Given the description of an element on the screen output the (x, y) to click on. 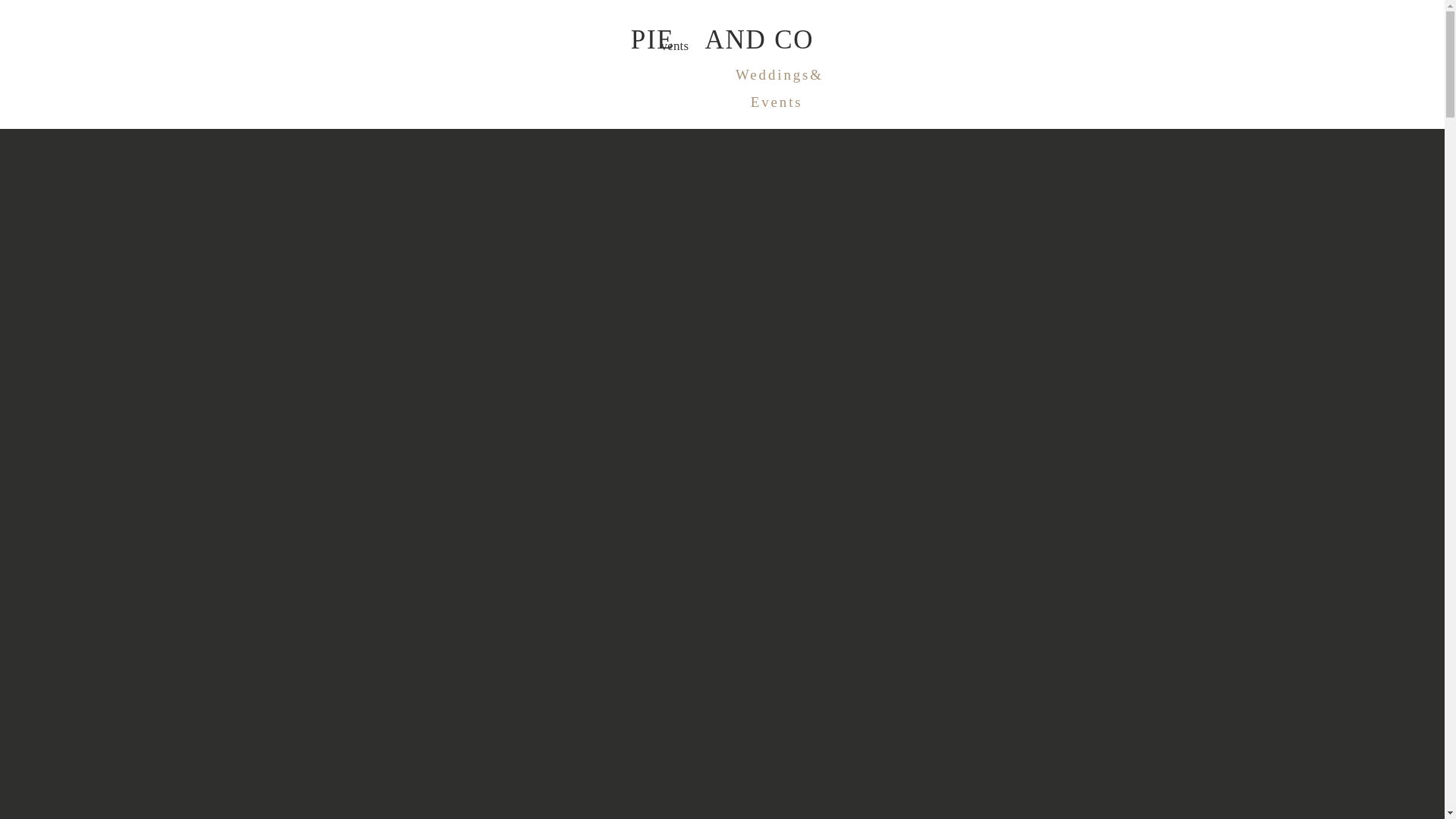
vents (698, 42)
PIE    AND CO (721, 48)
